Given the description of an element on the screen output the (x, y) to click on. 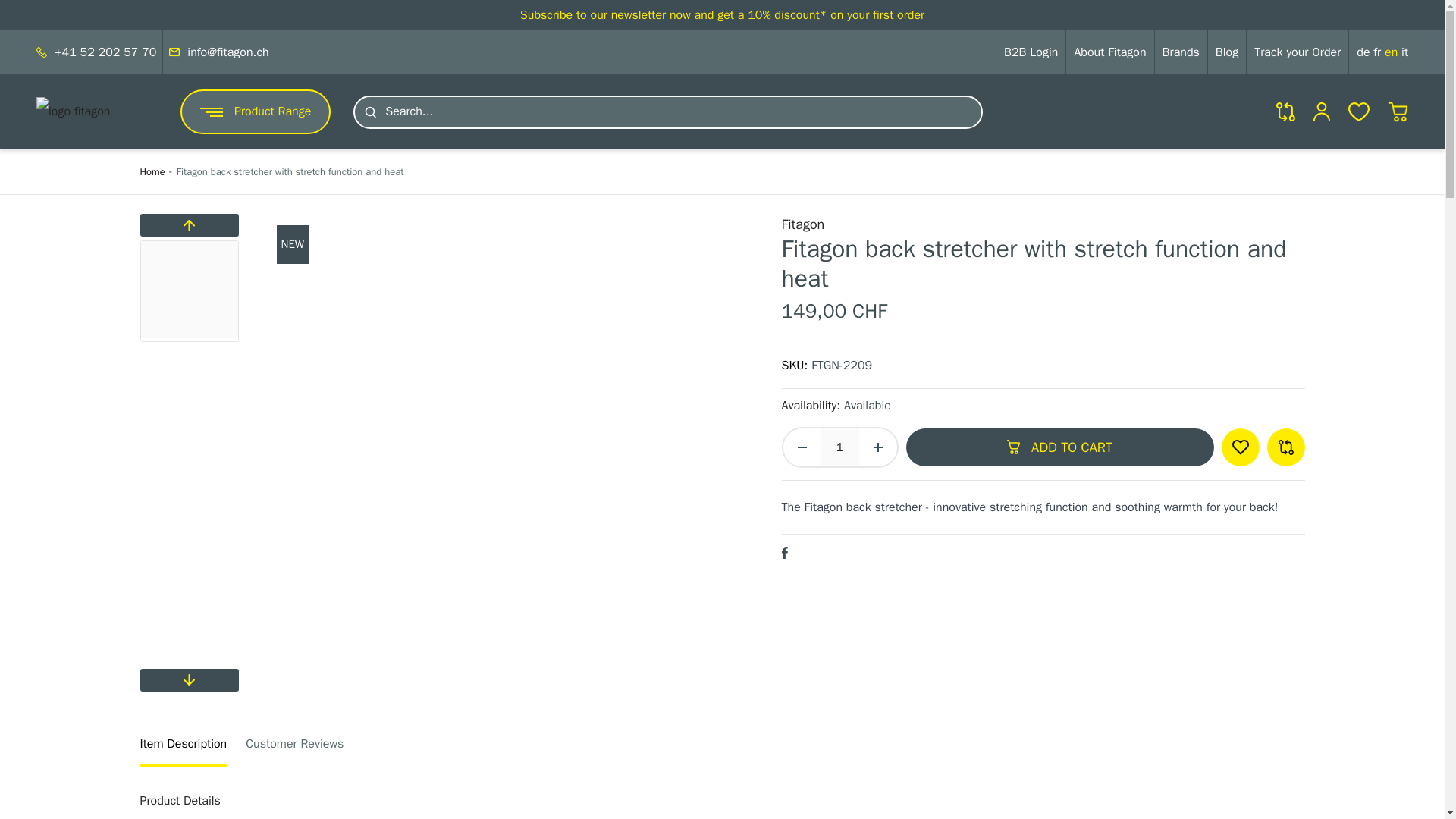
Product Range (255, 111)
About Fitagon (1109, 52)
Track your Order (1296, 52)
Fitagon back stretcher with stretch function and heat (290, 171)
Fitagon (802, 224)
de (1364, 52)
1 (840, 447)
Item Description (183, 747)
B2B Login (1031, 52)
en (1392, 52)
